Given the description of an element on the screen output the (x, y) to click on. 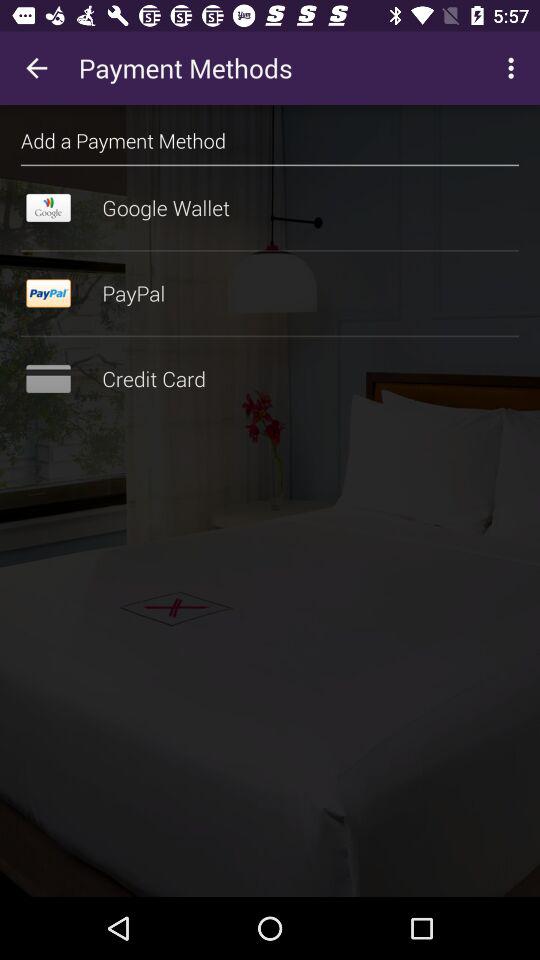
select add a payment icon (123, 140)
